Given the description of an element on the screen output the (x, y) to click on. 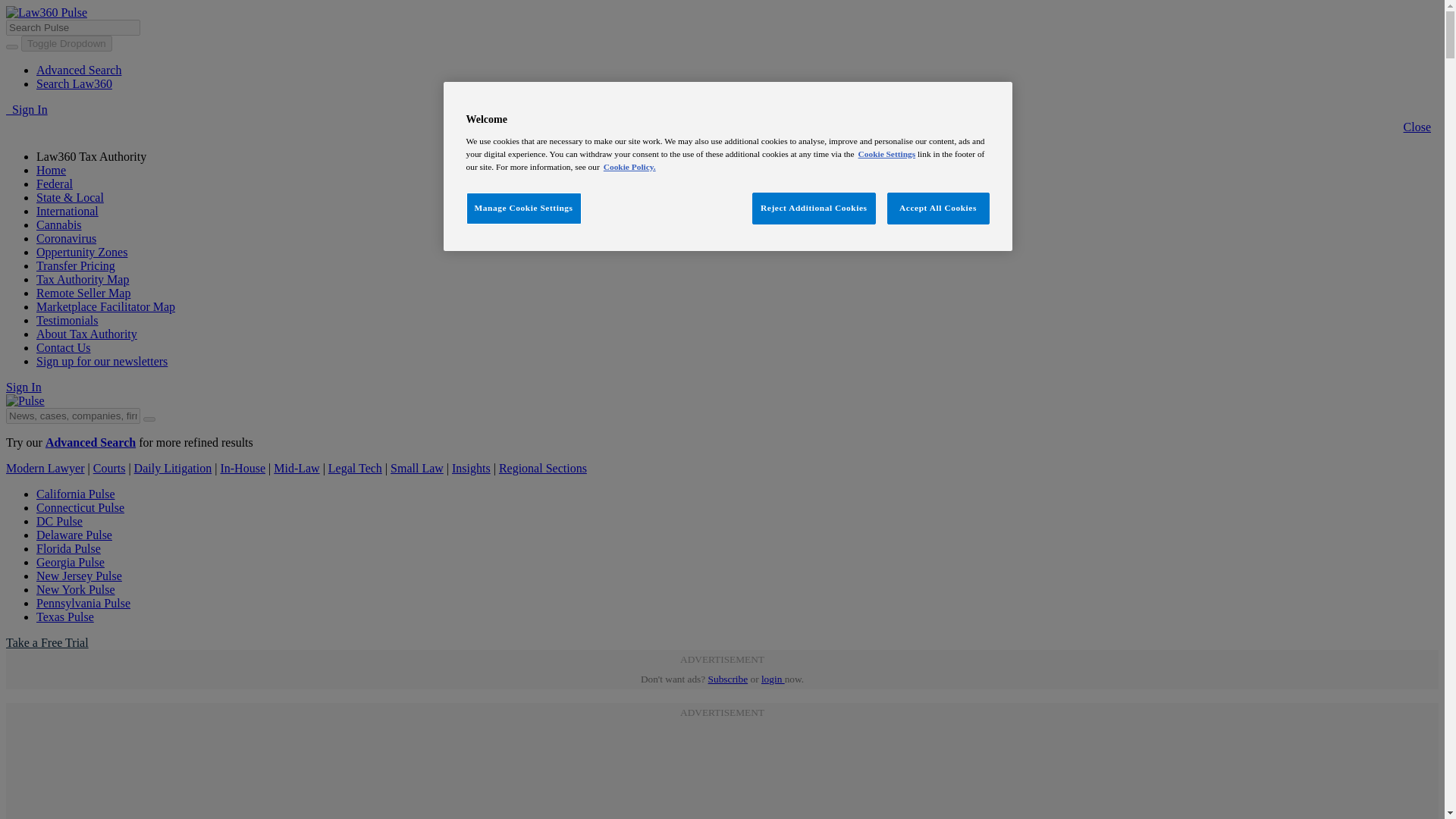
In-House (241, 468)
GO (13, 7)
Tax Authority Map (82, 278)
Modern Lawyer (44, 468)
Small Law (417, 468)
Sign up for our newsletters (101, 360)
Search button (148, 418)
Close (1417, 126)
Sign up for our newsletters (101, 360)
Contact Us (63, 347)
Modern Lawyer (44, 468)
Tax Authority Federal (54, 183)
Marketplace Facilitator Map (105, 306)
Insights (470, 468)
Oppertunity Zones (82, 251)
